Given the description of an element on the screen output the (x, y) to click on. 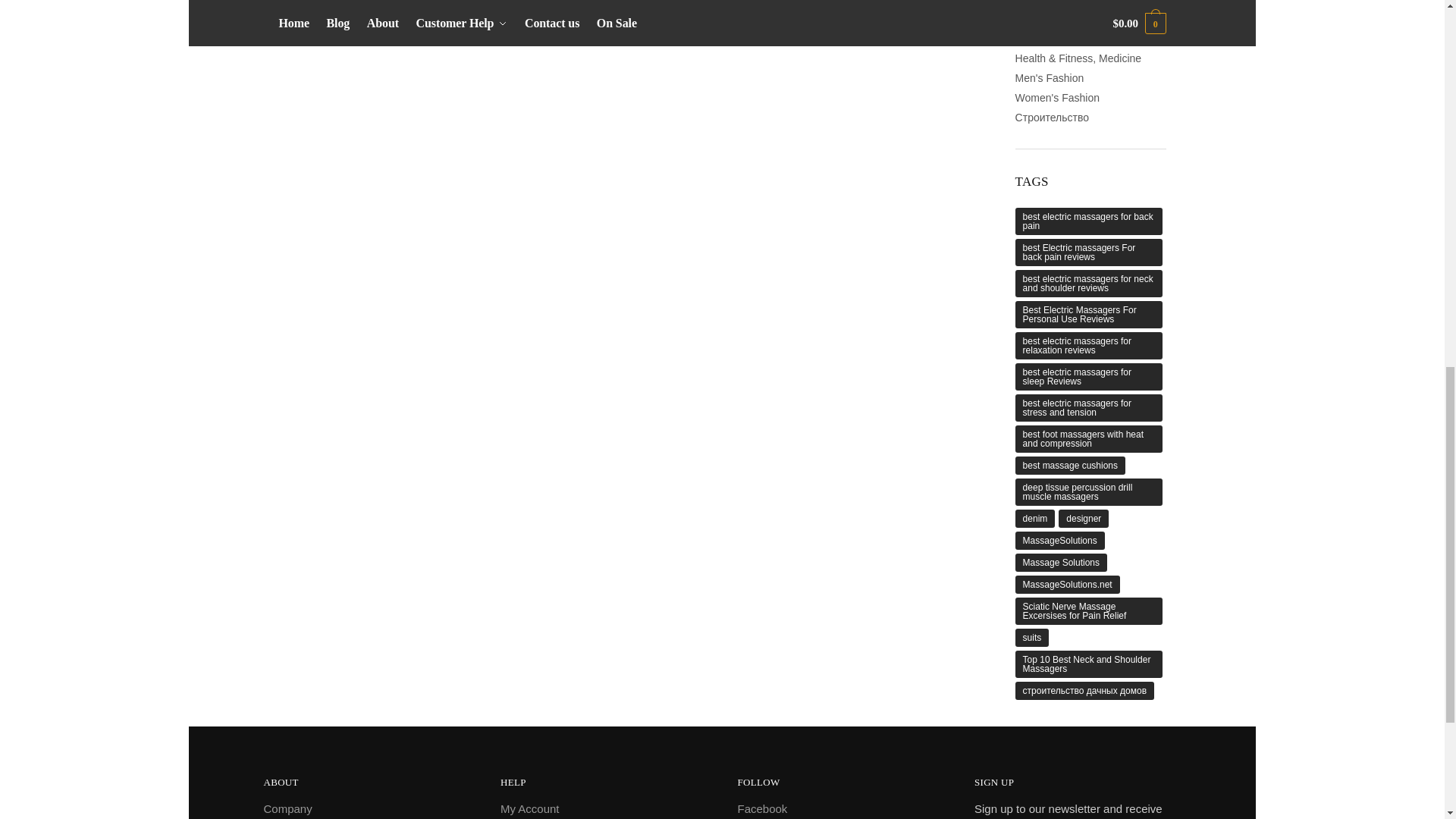
Men's Fashion (1049, 78)
Health (1029, 2)
